Given the description of an element on the screen output the (x, y) to click on. 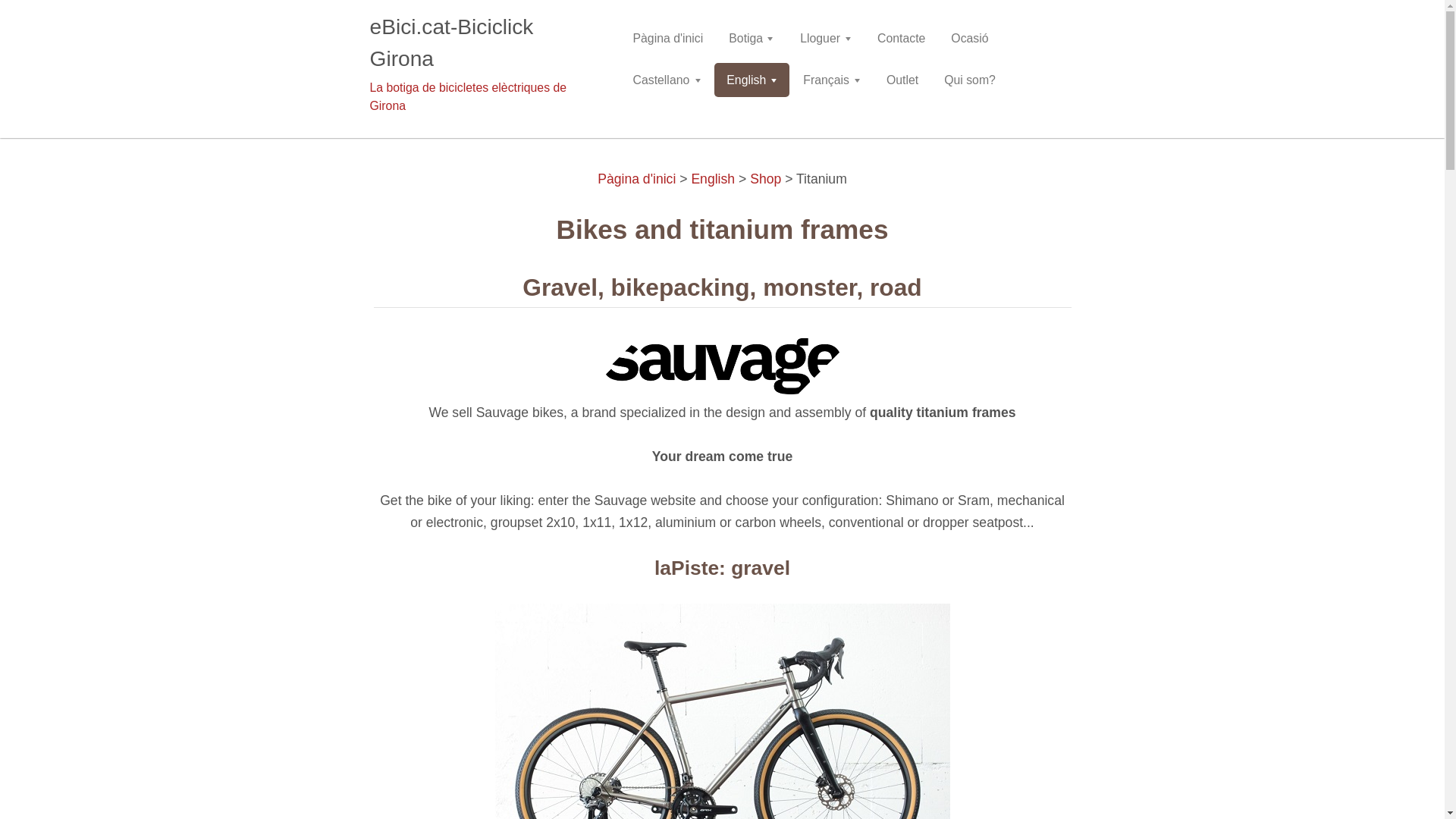
eBici.cat-Biciclick Girona (478, 43)
Contacte (900, 38)
Lloguer (825, 38)
Castellano (666, 80)
English (751, 80)
Botiga (751, 38)
